Given the description of an element on the screen output the (x, y) to click on. 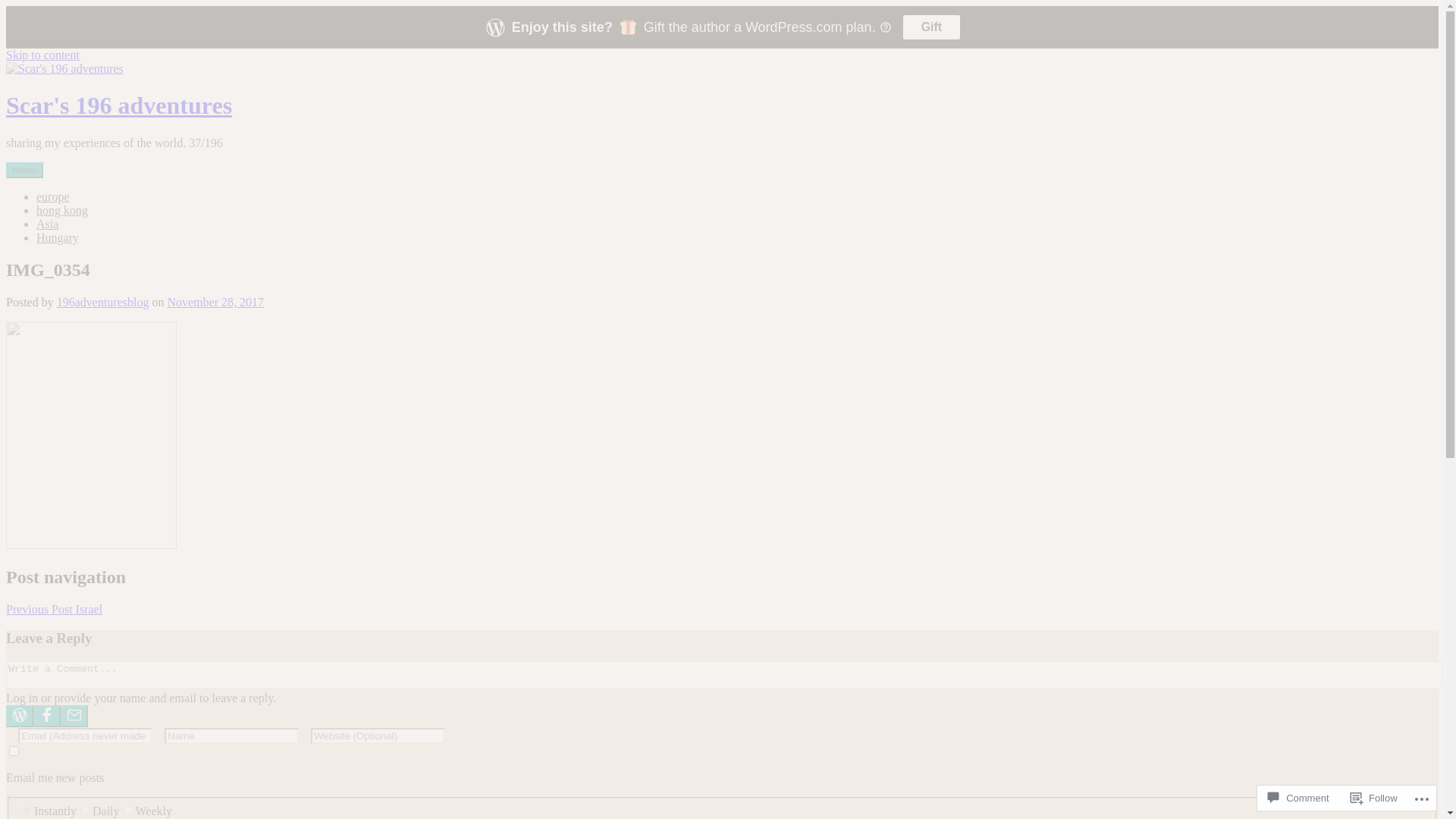
Comment Element type: text (1297, 797)
hong kong Element type: text (61, 209)
Gift Element type: text (931, 27)
Menu Element type: text (24, 170)
Scar's 196 adventures Element type: text (119, 105)
europe Element type: text (52, 196)
November 28, 2017 Element type: text (214, 301)
Asia Element type: text (47, 223)
Skip to content Element type: text (42, 54)
Follow Element type: text (1373, 797)
196adventuresblog Element type: text (102, 301)
Previous Post Israel Element type: text (722, 608)
Hungary Element type: text (57, 237)
